Given the description of an element on the screen output the (x, y) to click on. 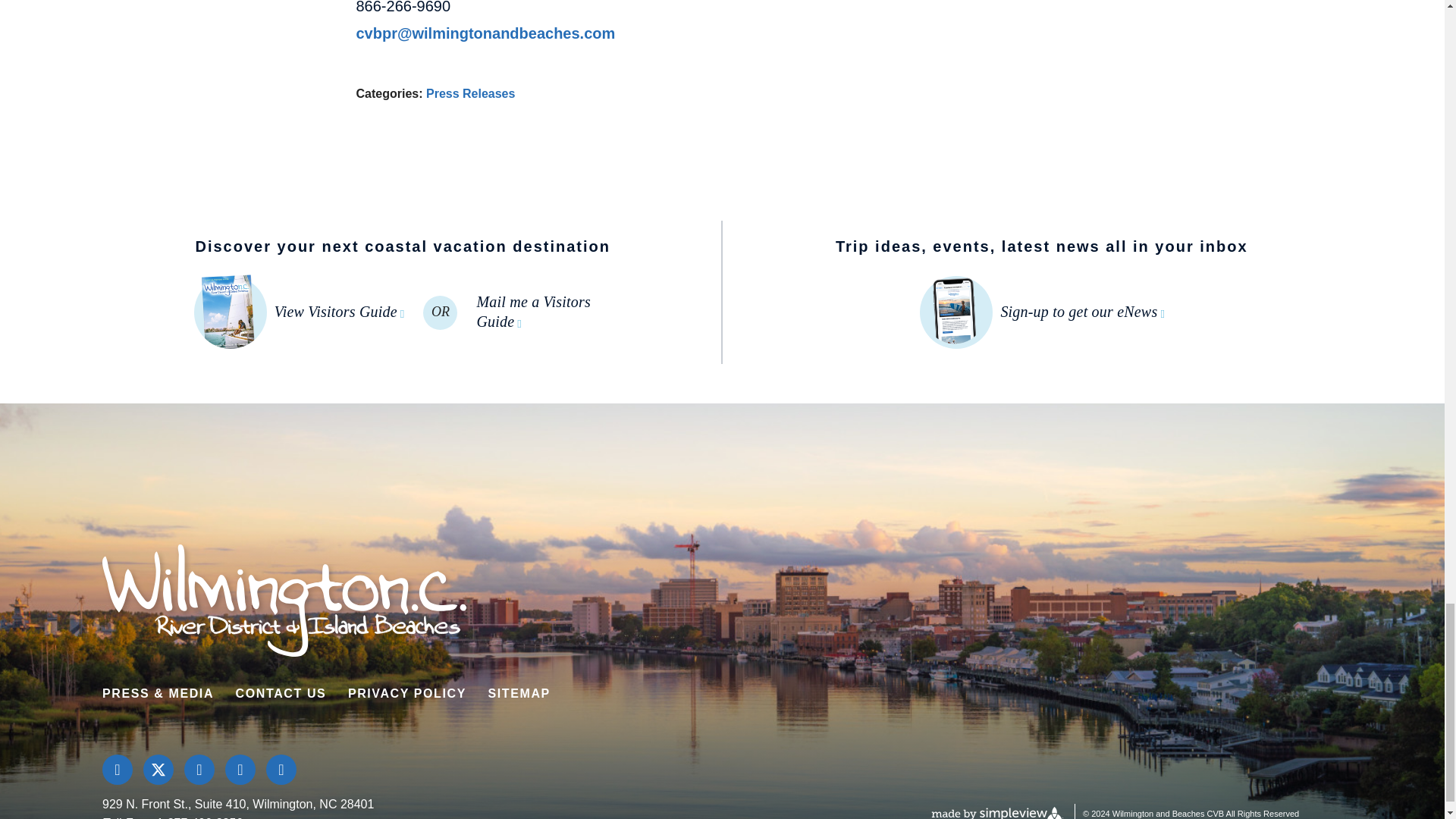
Visit our instagram page (199, 769)
Visit our facebook page (116, 769)
Visit our twitter page (157, 769)
Sitemap (518, 693)
Contact Us (280, 693)
Visit our youtube page (281, 769)
Privacy Policy (406, 693)
Visit our pinterest page (240, 769)
